Given the description of an element on the screen output the (x, y) to click on. 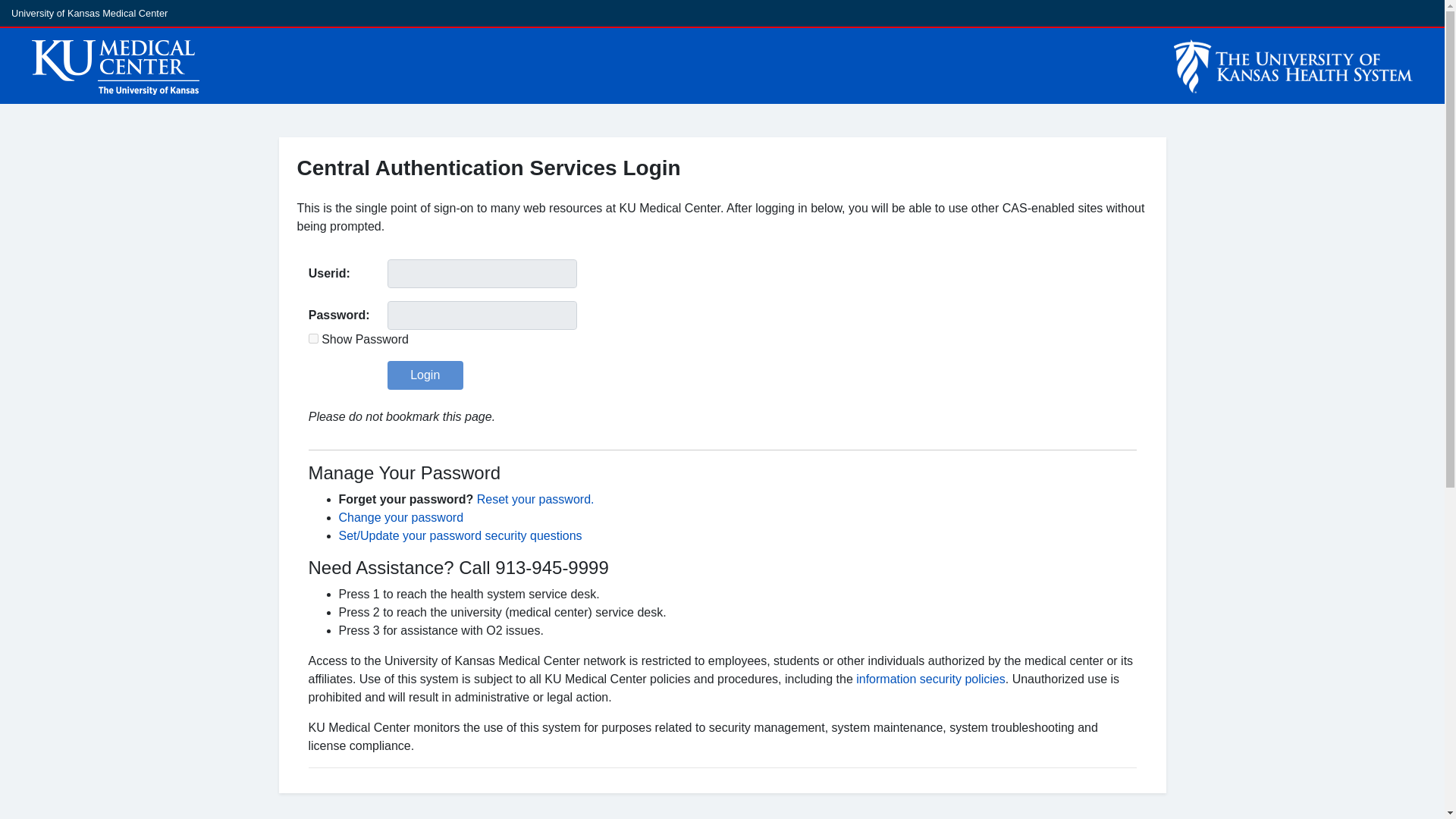
on (313, 338)
information security policies (931, 678)
University of Kansas Medical Center (89, 12)
Change your password (400, 517)
University of Kansas Medical Center website (89, 12)
Login (425, 375)
The University of Kansas Health System website (1138, 65)
University of Kansas Medical Center website (426, 65)
Login (425, 375)
Reset your password. (535, 499)
